Given the description of an element on the screen output the (x, y) to click on. 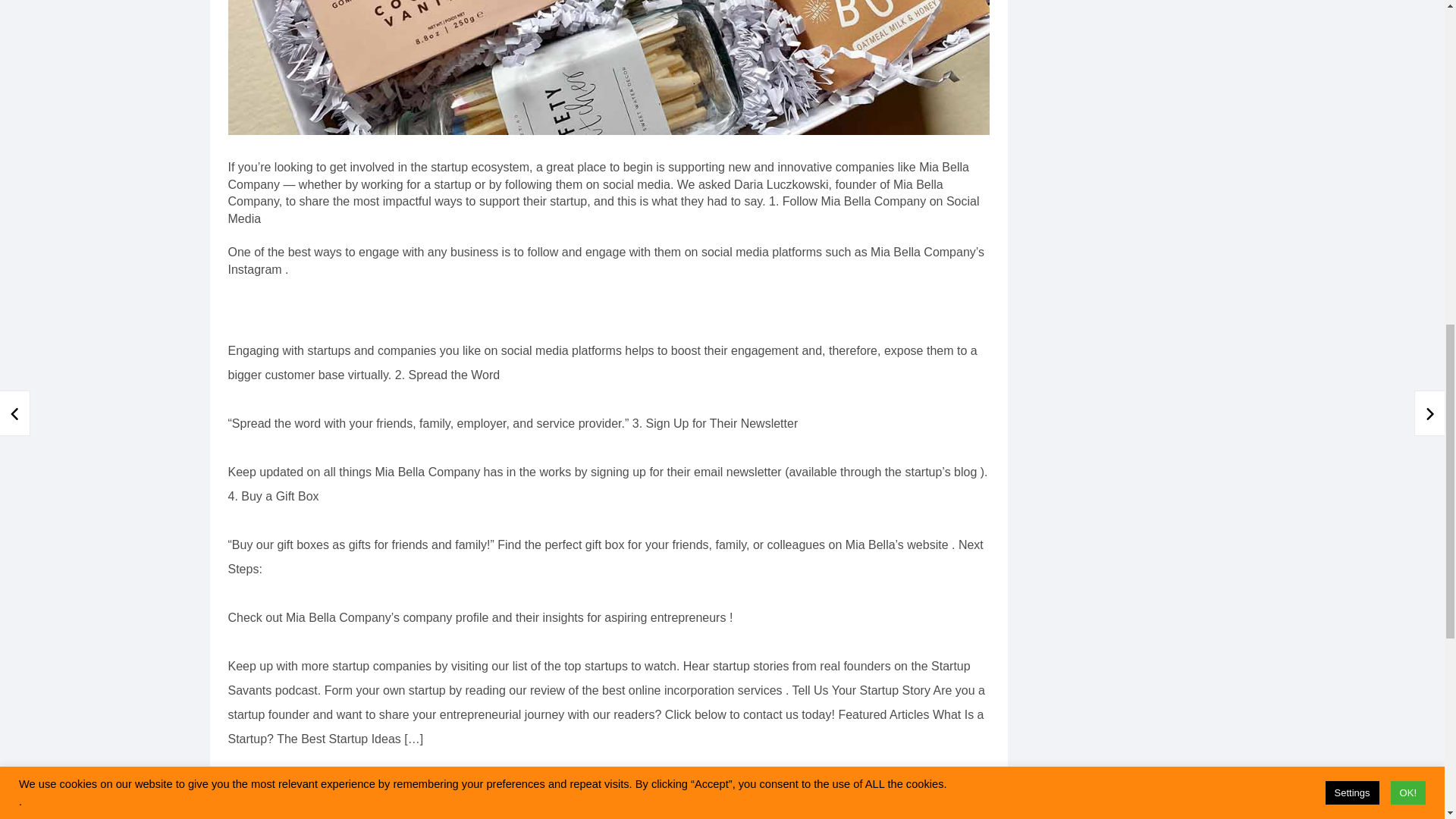
Click here to view original web page at startupsavant.com (382, 771)
Mr Curator Robot (387, 814)
